Given the description of an element on the screen output the (x, y) to click on. 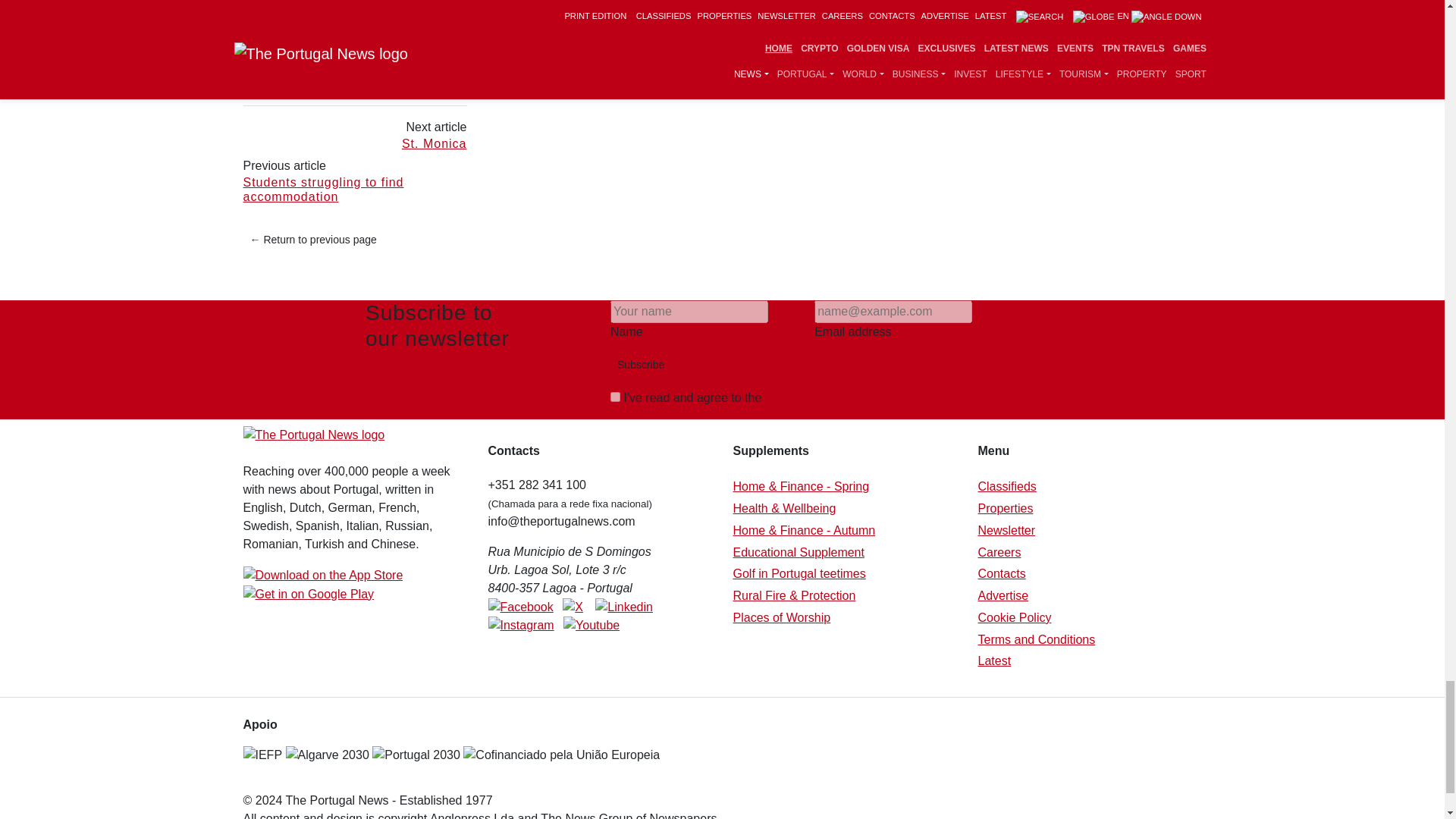
on (615, 397)
